Given the description of an element on the screen output the (x, y) to click on. 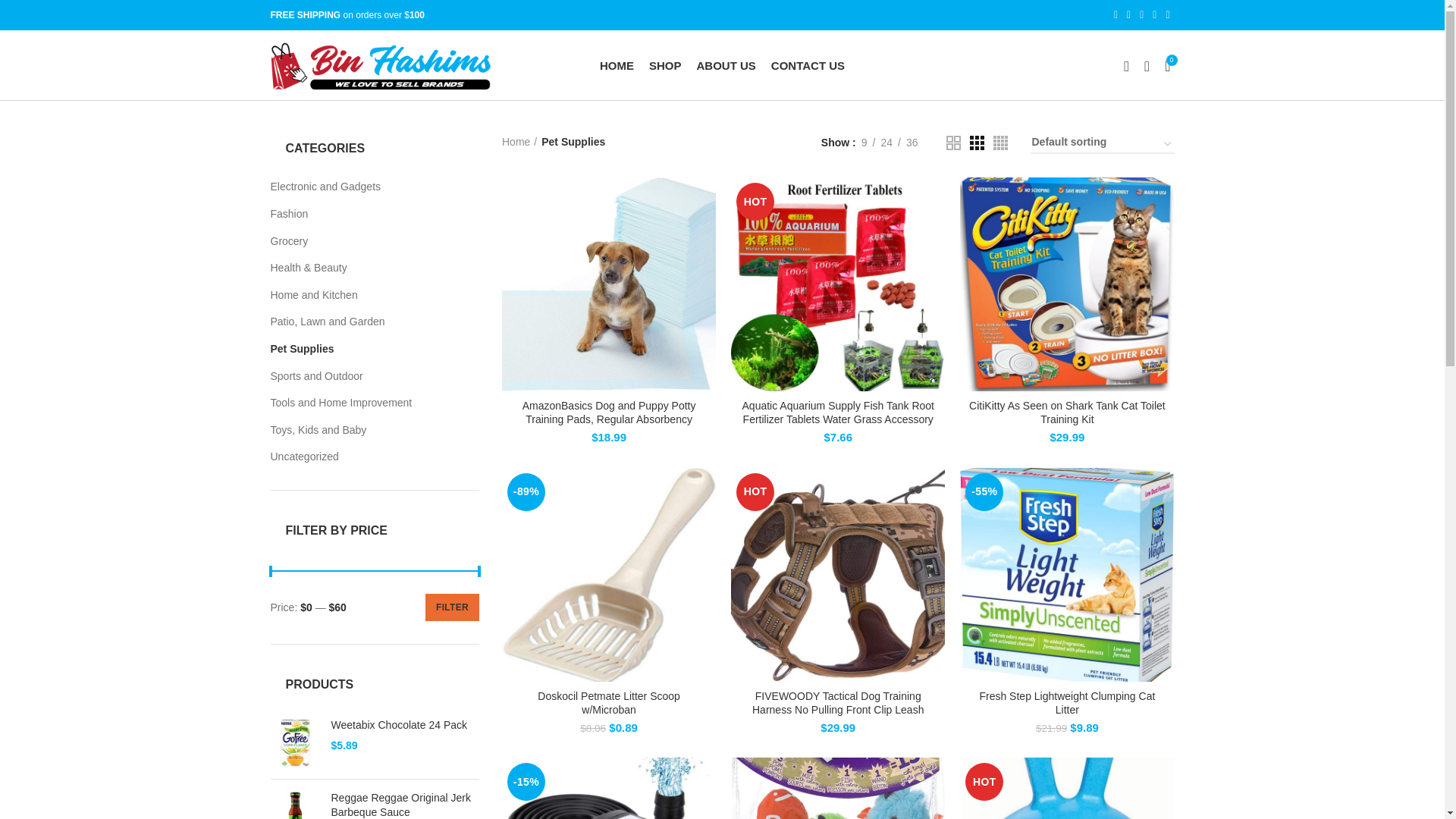
Patio, Lawn and Garden (364, 321)
SHOP (665, 65)
Electronic and Gadgets (364, 186)
Reggae Reggae Original Jerk Barbeque Sauce (293, 805)
Weetabix Chocolate 24 Pack (293, 742)
Weetabix Chocolate 24 Pack (404, 725)
Reggae Reggae Original Jerk Barbeque Sauce (404, 805)
Fashion (364, 214)
ABOUT US (725, 65)
HOME (617, 65)
